Given the description of an element on the screen output the (x, y) to click on. 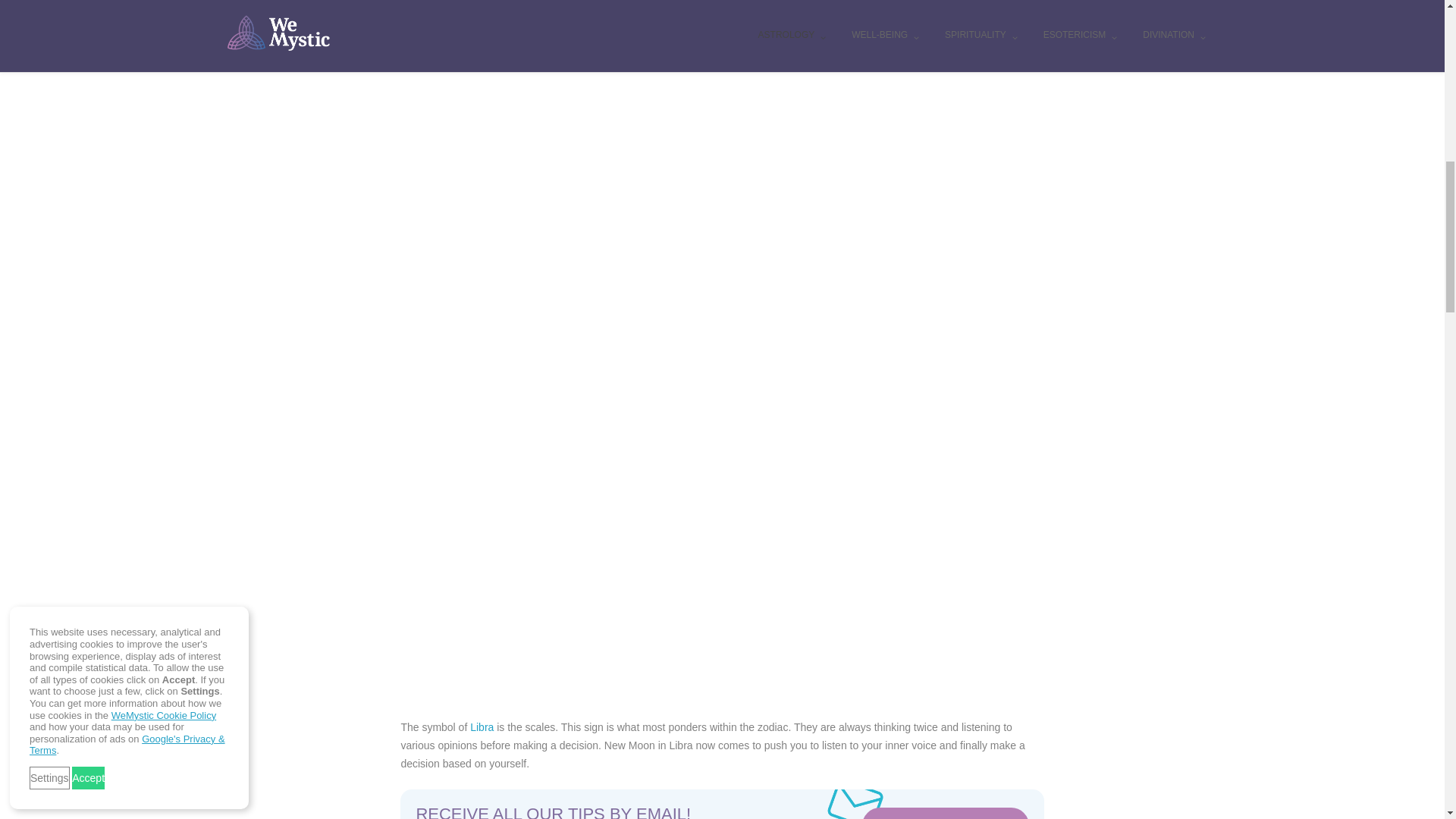
SUBSCRIBE FOR FREE (945, 813)
Libra (481, 727)
